Given the description of an element on the screen output the (x, y) to click on. 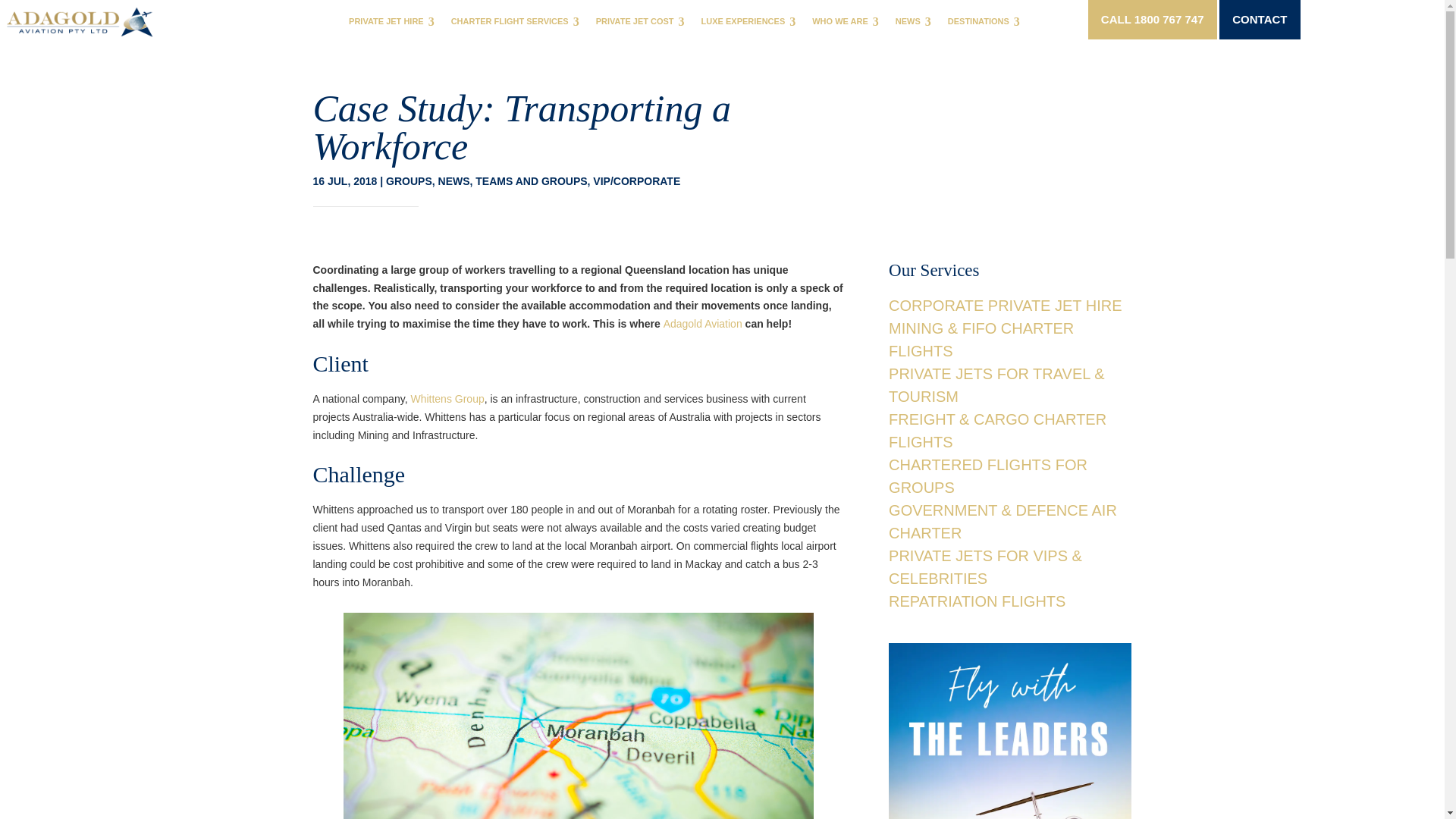
PRIVATE JET HIRE (392, 21)
LUXE EXPERIENCES (749, 21)
Adagold Blog Ad (1009, 730)
CHARTER FLIGHT SERVICES (516, 21)
WHO WE ARE (846, 21)
DESTINATIONS (984, 21)
PRIVATE JET COST (641, 21)
NEWS (914, 21)
